Given the description of an element on the screen output the (x, y) to click on. 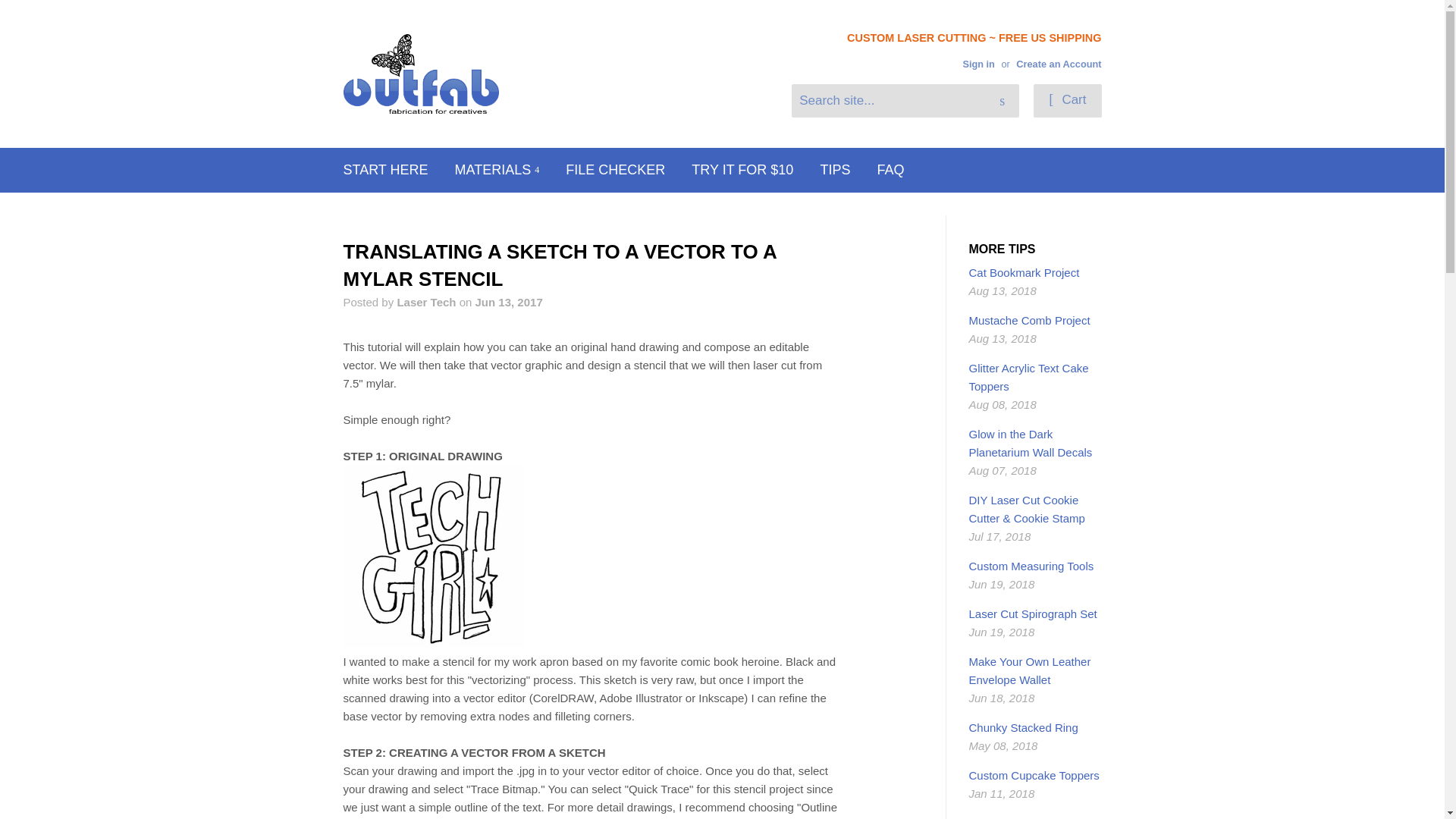
Custom Cupcake Toppers (1034, 775)
MATERIALS (497, 170)
Glow in the Dark Planetarium Wall Decals (1031, 442)
Cat Bookmark Project (1024, 272)
Make Your Own Leather Envelope Wallet (1029, 670)
Design and Laser Cut Your Own Sewing Buttons (1034, 817)
FAQ (889, 170)
Chunky Stacked Ring (1023, 727)
Create an Account (1058, 63)
START HERE (385, 170)
Glitter Acrylic Text Cake Toppers (1029, 377)
Laser Cut Spirograph Set (1033, 613)
Custom Measuring Tools (1031, 565)
Search (1002, 101)
FILE CHECKER (615, 170)
